Given the description of an element on the screen output the (x, y) to click on. 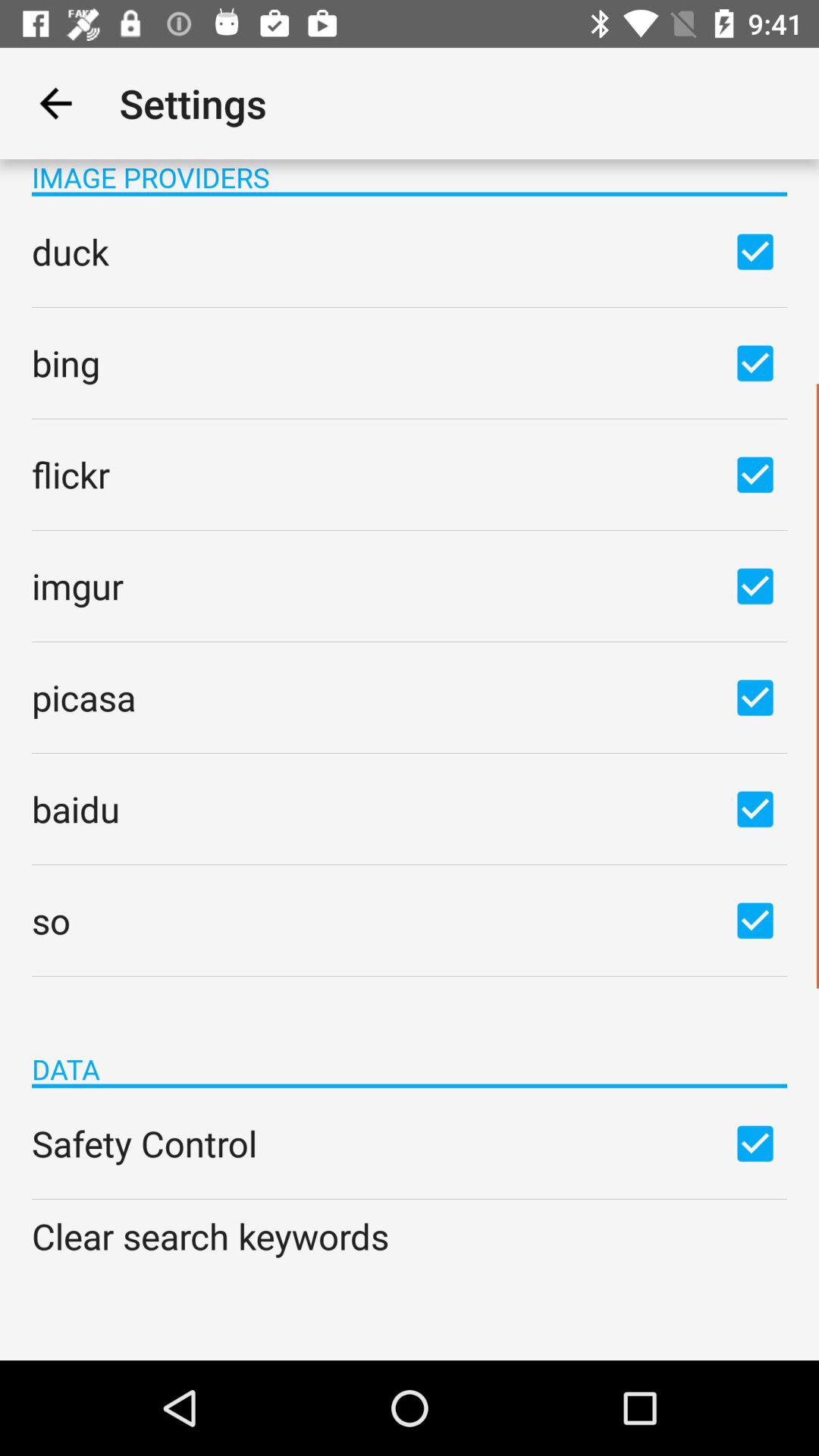
toggle search option (755, 697)
